Given the description of an element on the screen output the (x, y) to click on. 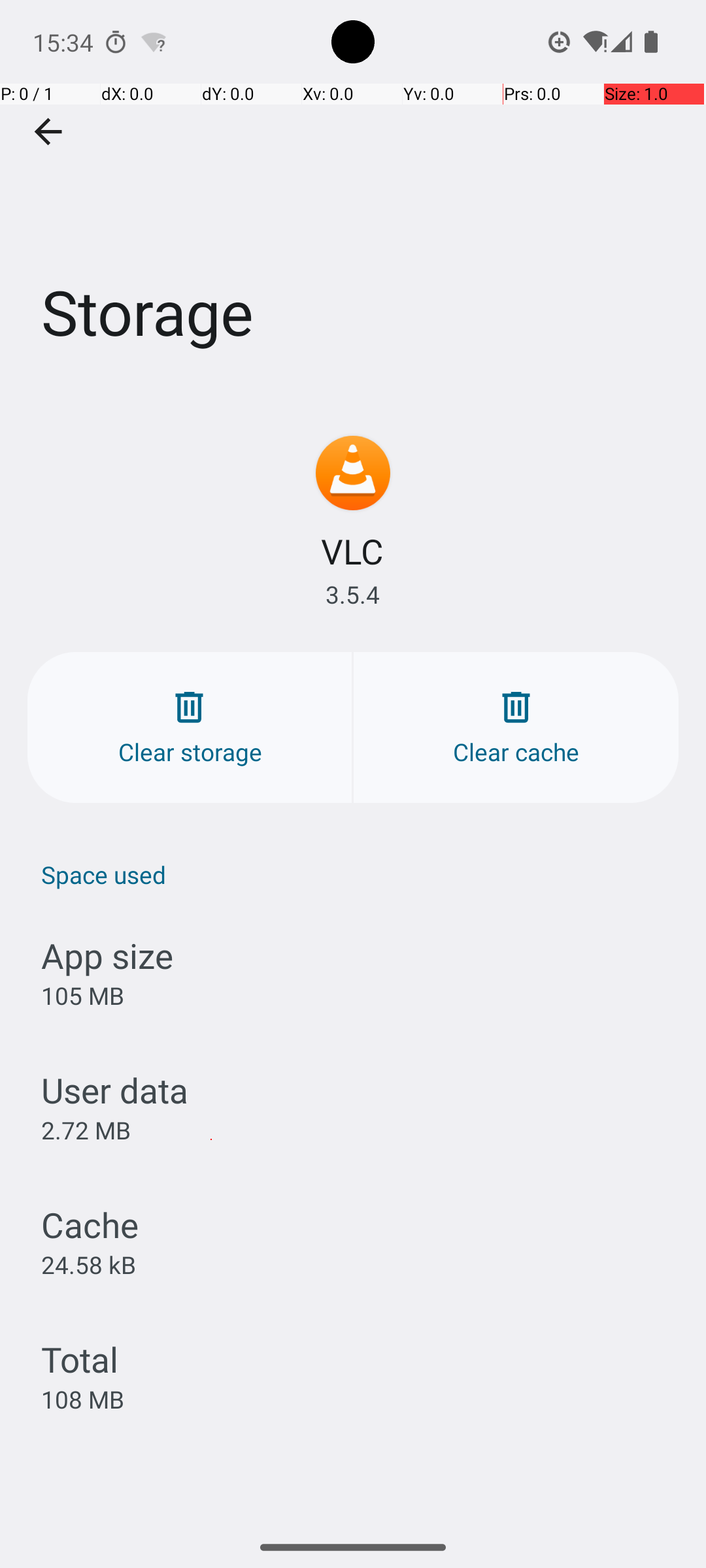
3.5.4 Element type: android.widget.TextView (352, 593)
105 MB Element type: android.widget.TextView (82, 995)
2.72 MB Element type: android.widget.TextView (85, 1129)
24.58 kB Element type: android.widget.TextView (88, 1264)
108 MB Element type: android.widget.TextView (82, 1398)
